Given the description of an element on the screen output the (x, y) to click on. 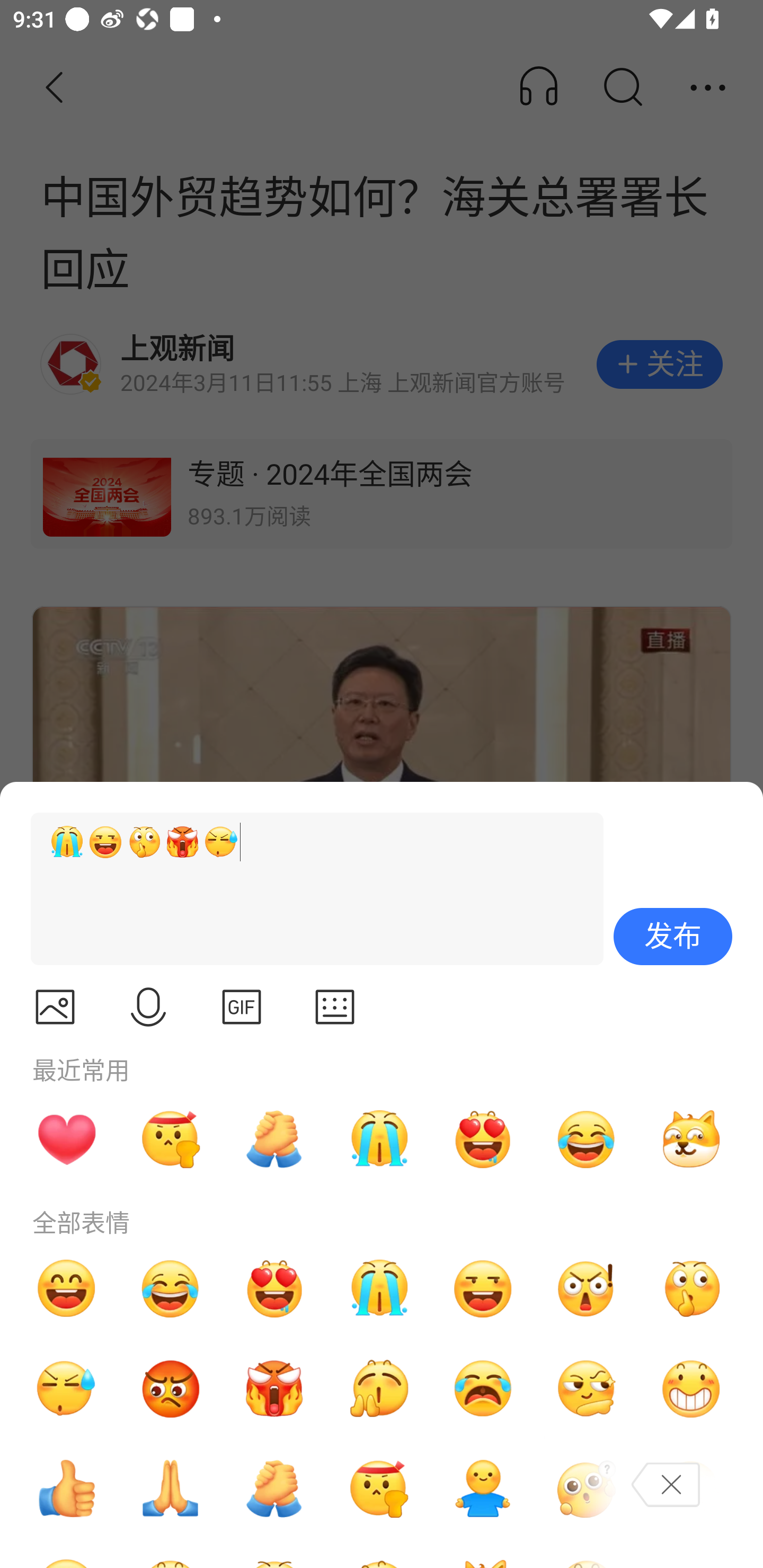
[哭][嘿嘿][嘘][愤怒][汗] (308, 888)
发布 (672, 936)
 (54, 1007)
 (148, 1007)
 (241, 1007)
 (334, 1007)
心 (66, 1138)
奋斗 (170, 1138)
加油 (274, 1138)
哭 (378, 1138)
喜欢 (482, 1138)
哭笑 (586, 1138)
奸笑 (690, 1138)
哈哈 (66, 1288)
哭笑 (170, 1288)
喜欢 (274, 1288)
哭 (378, 1288)
嘿嘿 (482, 1288)
吃惊 (586, 1288)
嘘 (690, 1288)
汗 (66, 1389)
生气 (170, 1389)
愤怒 (274, 1389)
喝彩 (378, 1389)
抓狂 (482, 1389)
机智 (586, 1389)
坏笑 (690, 1389)
点赞 (66, 1488)
缅怀 (170, 1488)
加油 (274, 1488)
奋斗 (378, 1488)
抱抱 (482, 1488)
疑问 (586, 1488)
捂脸 (690, 1488)
